Given the description of an element on the screen output the (x, y) to click on. 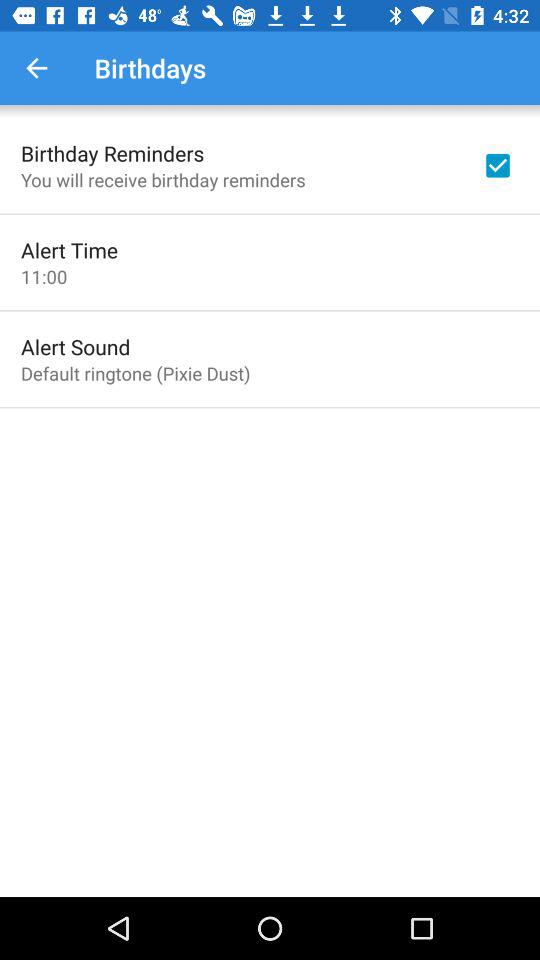
turn off icon next to you will receive icon (497, 165)
